Given the description of an element on the screen output the (x, y) to click on. 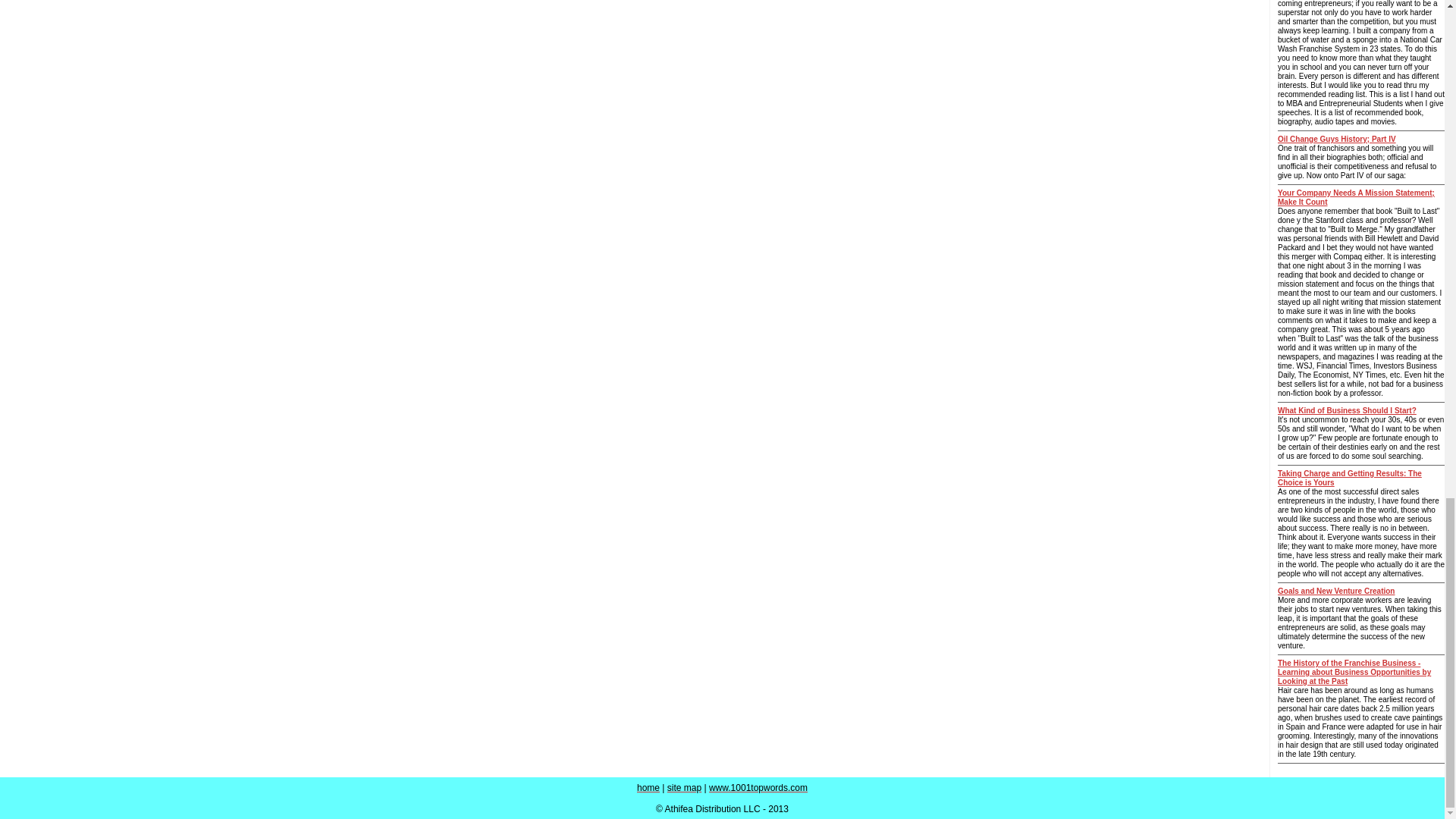
Taking Charge and Getting Results: The Choice is Yours (1350, 477)
What Kind of Business Should I Start? (1347, 410)
home (648, 787)
Your Company Needs A Mission Statement; Make It Count (1356, 197)
Oil Change Guys History; Part IV (1337, 139)
Goals and New Venture Creation (1336, 591)
www.1001topwords.com (758, 787)
site map (683, 787)
